Given the description of an element on the screen output the (x, y) to click on. 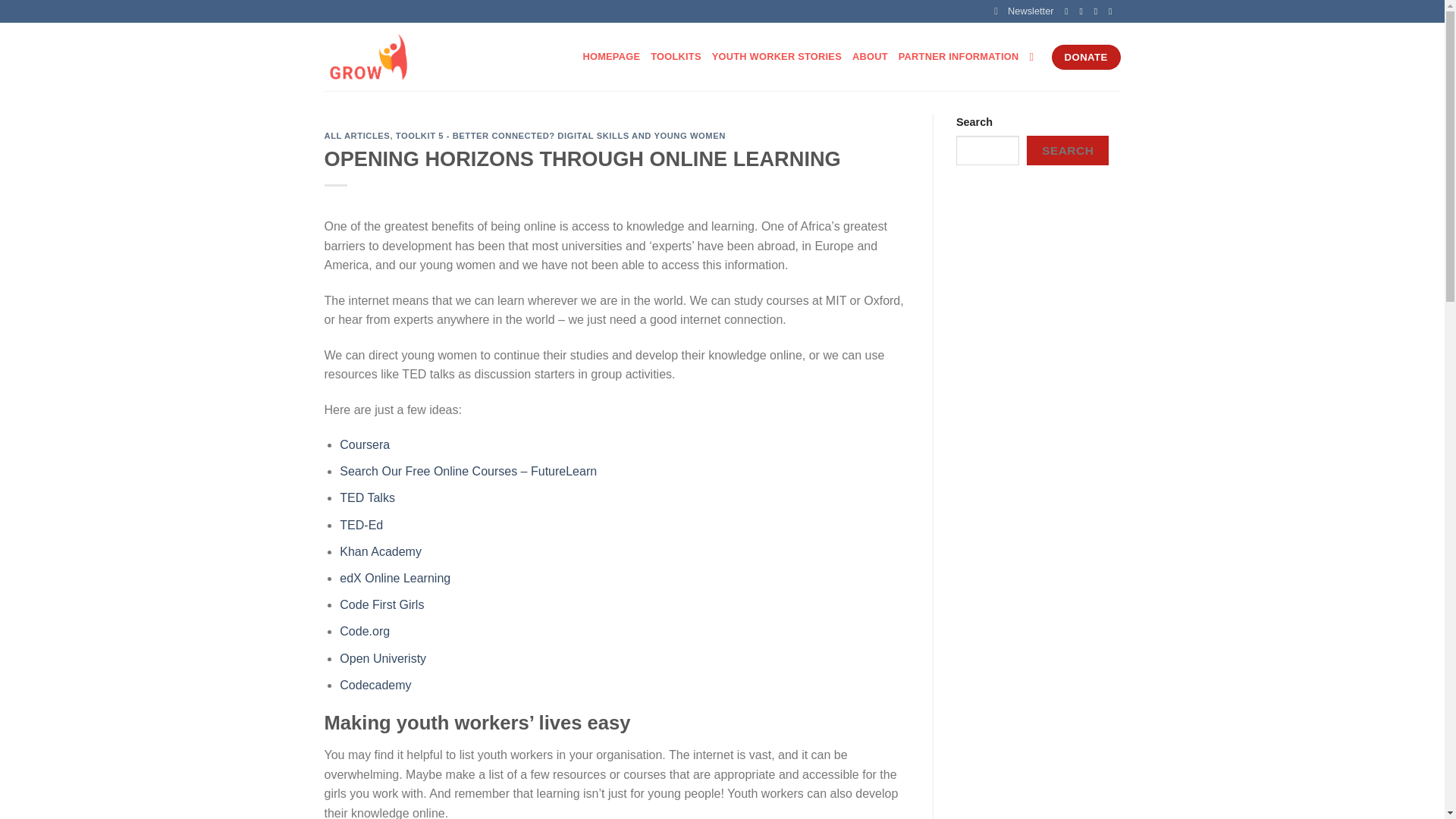
ALL ARTICLES (357, 135)
Codecademy (374, 684)
Project Grow - Project Grow (400, 56)
ABOUT (869, 56)
DONATE (1086, 57)
SEARCH (1067, 150)
Newsletter (1023, 11)
Khan Academy (380, 551)
Code.org (364, 631)
TED Talks (366, 497)
TOOLKITS (675, 56)
PARTNER INFORMATION (958, 56)
TOOLKIT 5 - BETTER CONNECTED? DIGITAL SKILLS AND YOUNG WOMEN (560, 135)
Open Univeristy (382, 658)
Code First Girls (381, 604)
